Given the description of an element on the screen output the (x, y) to click on. 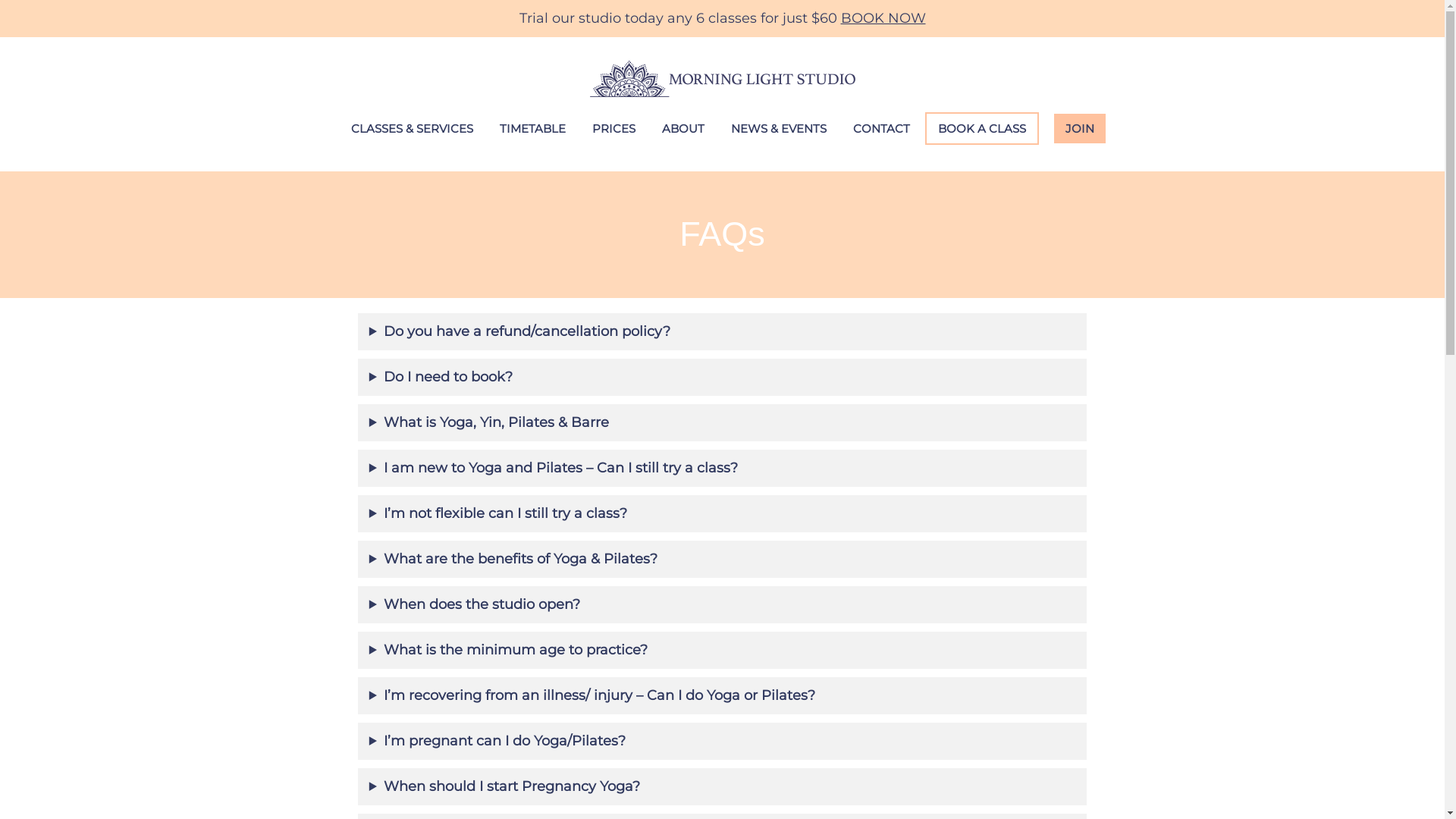
JOIN Element type: text (1079, 128)
ABOUT Element type: text (682, 128)
NEWS & EVENTS Element type: text (777, 128)
BOOK A CLASS Element type: text (981, 128)
CONTACT Element type: text (881, 128)
BOOK NOW Element type: text (882, 17)
PRICES Element type: text (613, 128)
TIMETABLE Element type: text (532, 128)
CLASSES & SERVICES Element type: text (411, 128)
Skip to primary navigation Element type: text (0, 37)
